Given the description of an element on the screen output the (x, y) to click on. 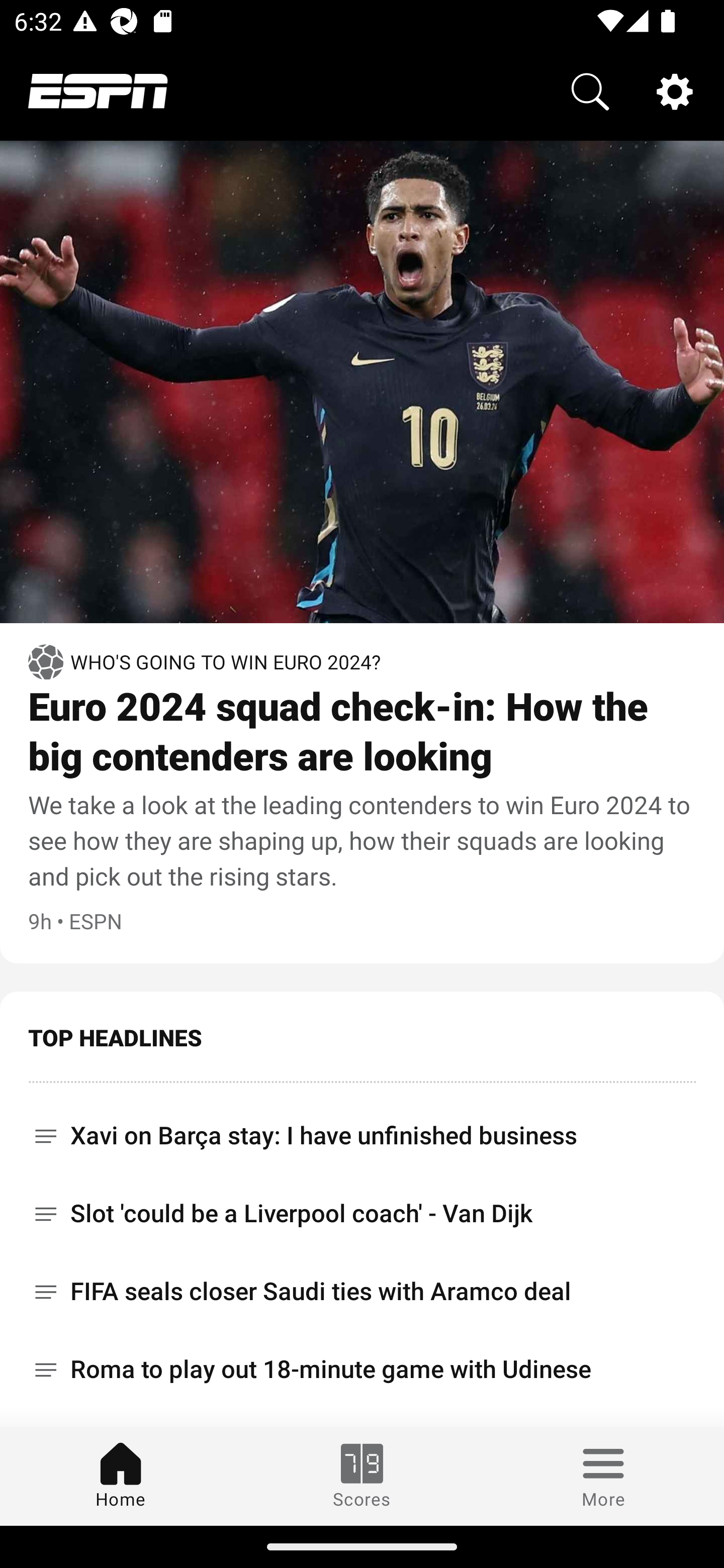
Search (590, 90)
Settings (674, 90)
 Xavi on Barça stay: I have unfinished business (362, 1128)
 Slot 'could be a Liverpool coach' - Van Dijk (362, 1213)
 FIFA seals closer Saudi ties with Aramco deal (362, 1291)
 Roma to play out 18-minute game with Udinese (362, 1369)
Scores (361, 1475)
More (603, 1475)
